Given the description of an element on the screen output the (x, y) to click on. 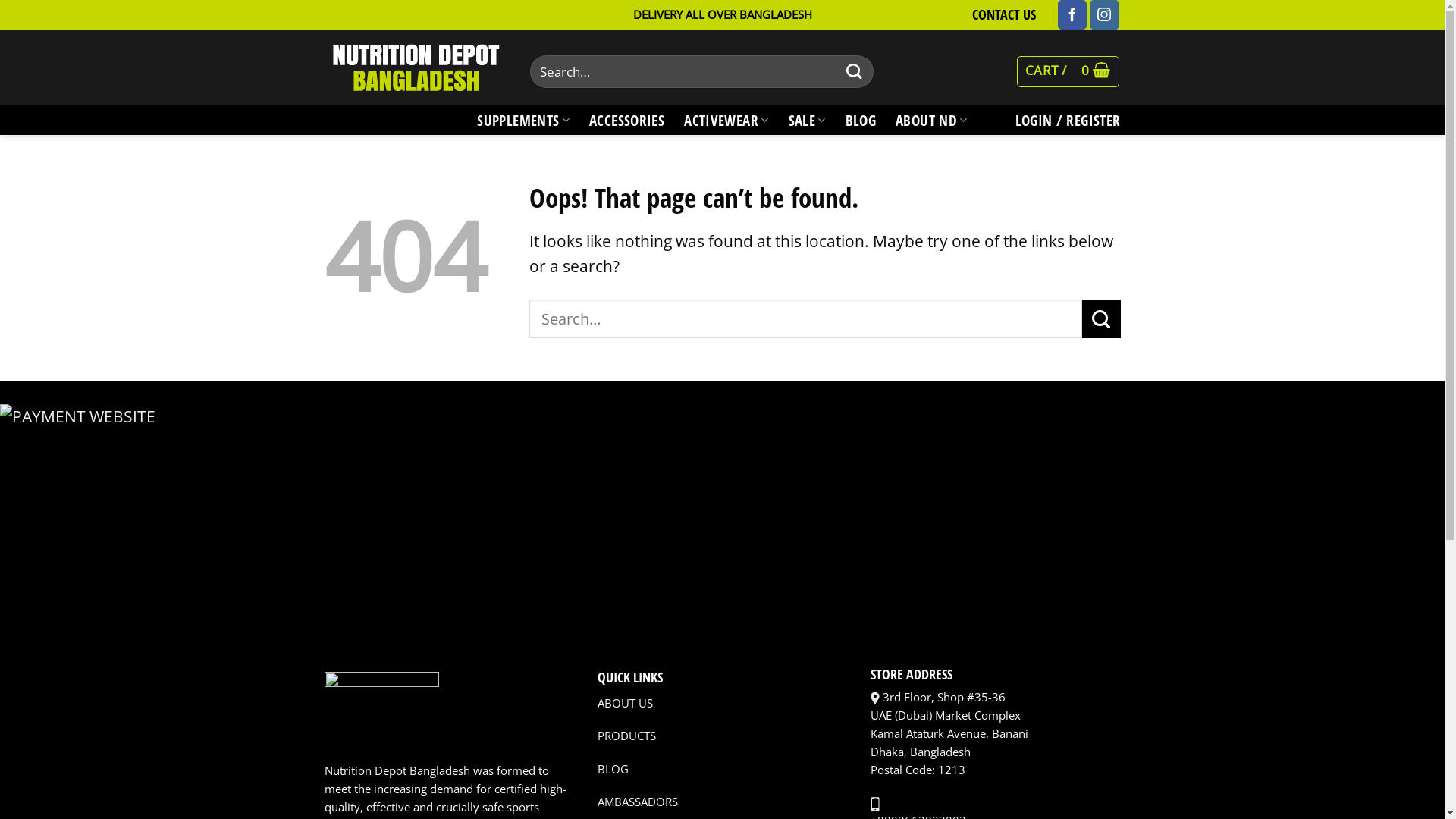
CONTACT US Element type: text (1003, 14)
PRODUCTS Element type: text (626, 735)
Follow on Facebook Element type: hover (1072, 14)
ABOUT ND Element type: text (931, 119)
ABOUT US Element type: text (624, 702)
LOGIN / REGISTER Element type: text (1067, 119)
SALE Element type: text (806, 119)
BLOG Element type: text (612, 768)
Follow on Instagram Element type: hover (1104, 14)
AMBASSADORS Element type: text (637, 801)
SUPPLEMENTS Element type: text (522, 119)
BLOG Element type: text (860, 119)
ACCESSORIES Element type: text (626, 119)
Search Element type: text (854, 71)
ACTIVEWEAR Element type: text (726, 119)
